Given the description of an element on the screen output the (x, y) to click on. 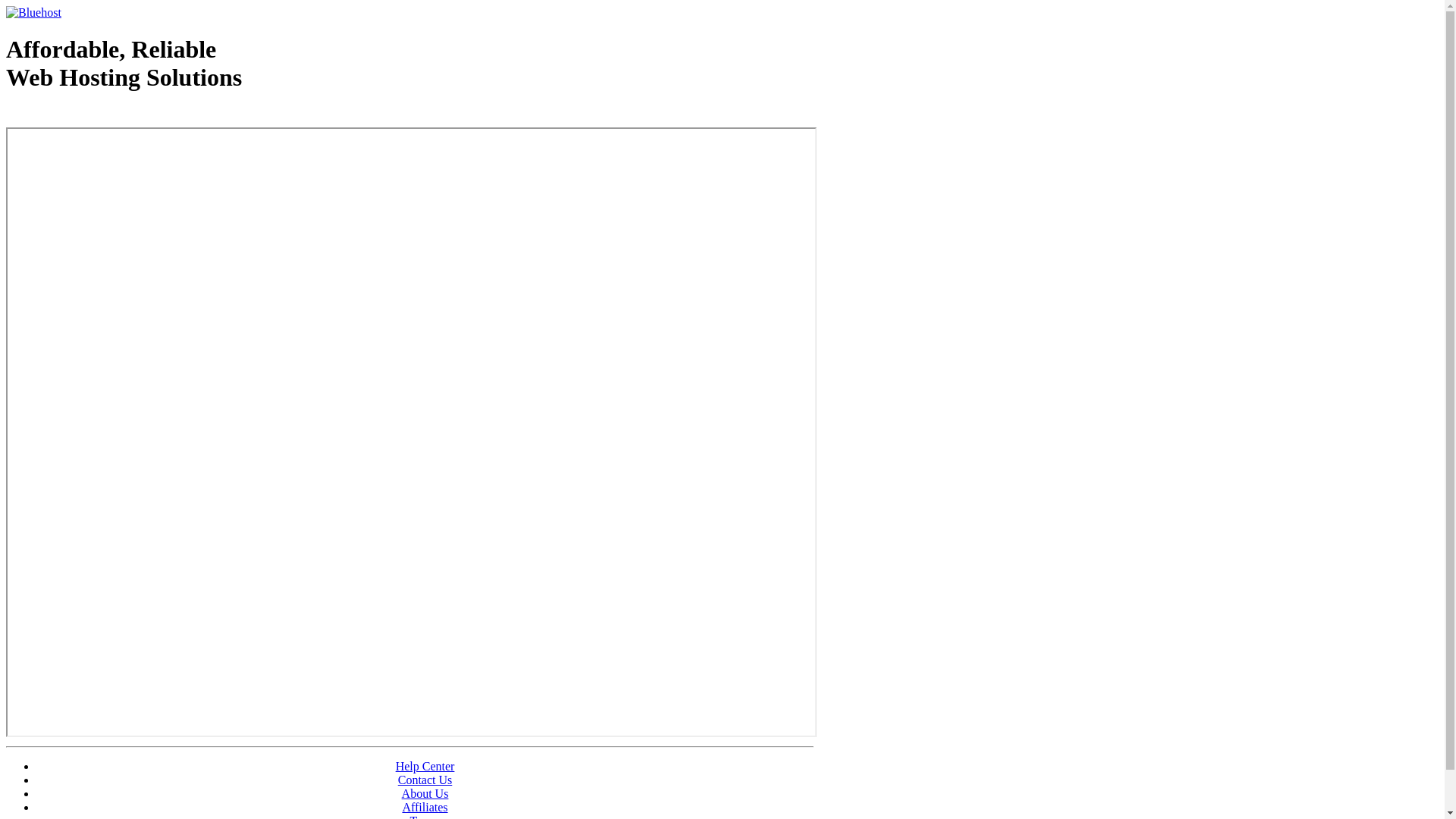
About Us Element type: text (424, 793)
Contact Us Element type: text (425, 779)
Web Hosting - courtesy of www.bluehost.com Element type: text (94, 115)
Help Center Element type: text (425, 765)
Affiliates Element type: text (424, 806)
